Given the description of an element on the screen output the (x, y) to click on. 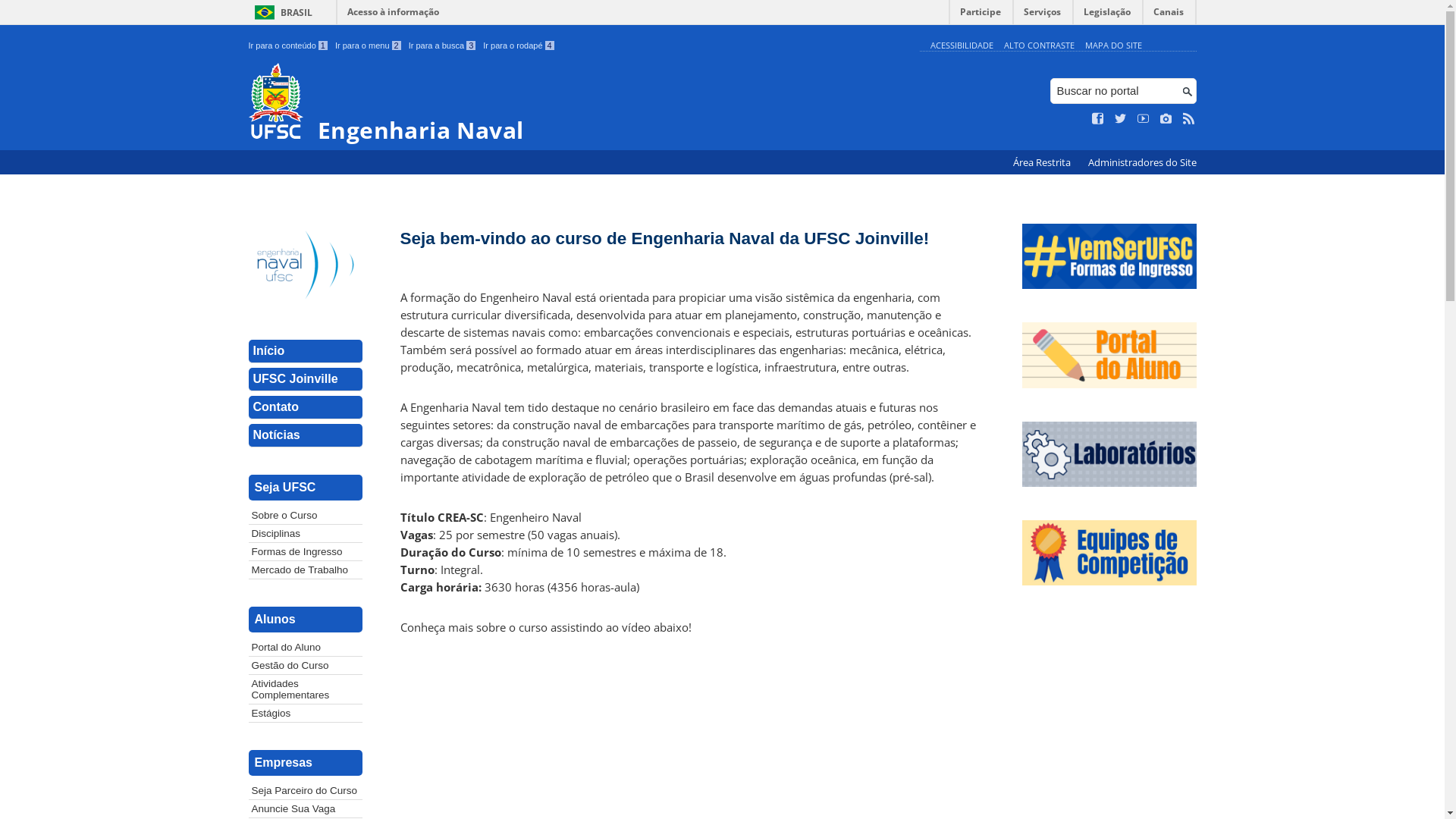
Anuncie Sua Vaga Element type: text (305, 808)
Atividades Complementares Element type: text (305, 688)
BRASIL Element type: text (280, 12)
Portal do Aluno Element type: text (305, 646)
MAPA DO SITE Element type: text (1112, 44)
Canais Element type: text (1169, 15)
Veja no Instagram Element type: hover (1166, 118)
Ir para a busca 3 Element type: text (442, 45)
Sobre o Curso Element type: text (305, 515)
UFSC Joinville Element type: text (305, 379)
Engenharia Naval Element type: text (580, 102)
Participe Element type: text (980, 15)
ACESSIBILIDADE Element type: text (960, 44)
Contato Element type: text (305, 407)
Curta no Facebook Element type: hover (1098, 118)
Siga no Twitter Element type: hover (1120, 118)
Disciplinas Element type: text (305, 533)
ALTO CONTRASTE Element type: text (1039, 44)
Administradores do Site Element type: text (1141, 162)
Ir para o menu 2 Element type: text (368, 45)
Formas de Ingresso Element type: text (305, 551)
Seja Parceiro do Curso Element type: text (305, 790)
Mercado de Trabalho Element type: text (305, 569)
